Given the description of an element on the screen output the (x, y) to click on. 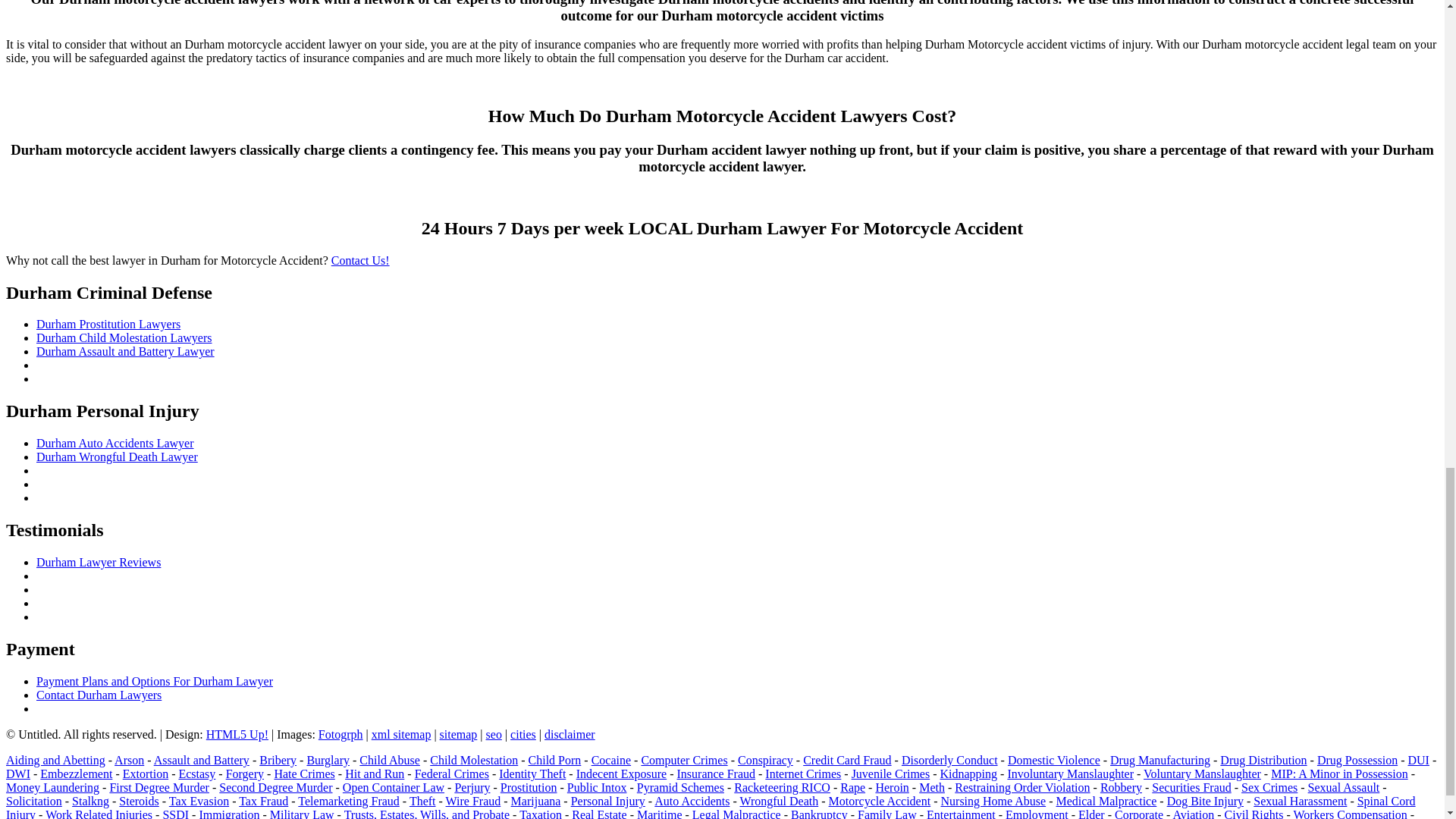
disclaimer (569, 734)
Aiding and Abetting (54, 759)
Disorderly Conduct (949, 759)
Child Abuse (389, 759)
Durham Wrongful Death Lawyer (117, 456)
Burglary (327, 759)
Computer Crimes (683, 759)
Bribery (278, 759)
cities (523, 734)
Cocaine (610, 759)
Durham Auto Accidents Lawyer (114, 442)
Fotogrph (340, 734)
xml sitemap (400, 734)
Contact Us! (360, 259)
Durham Child Molestation Lawyers (124, 337)
